Given the description of an element on the screen output the (x, y) to click on. 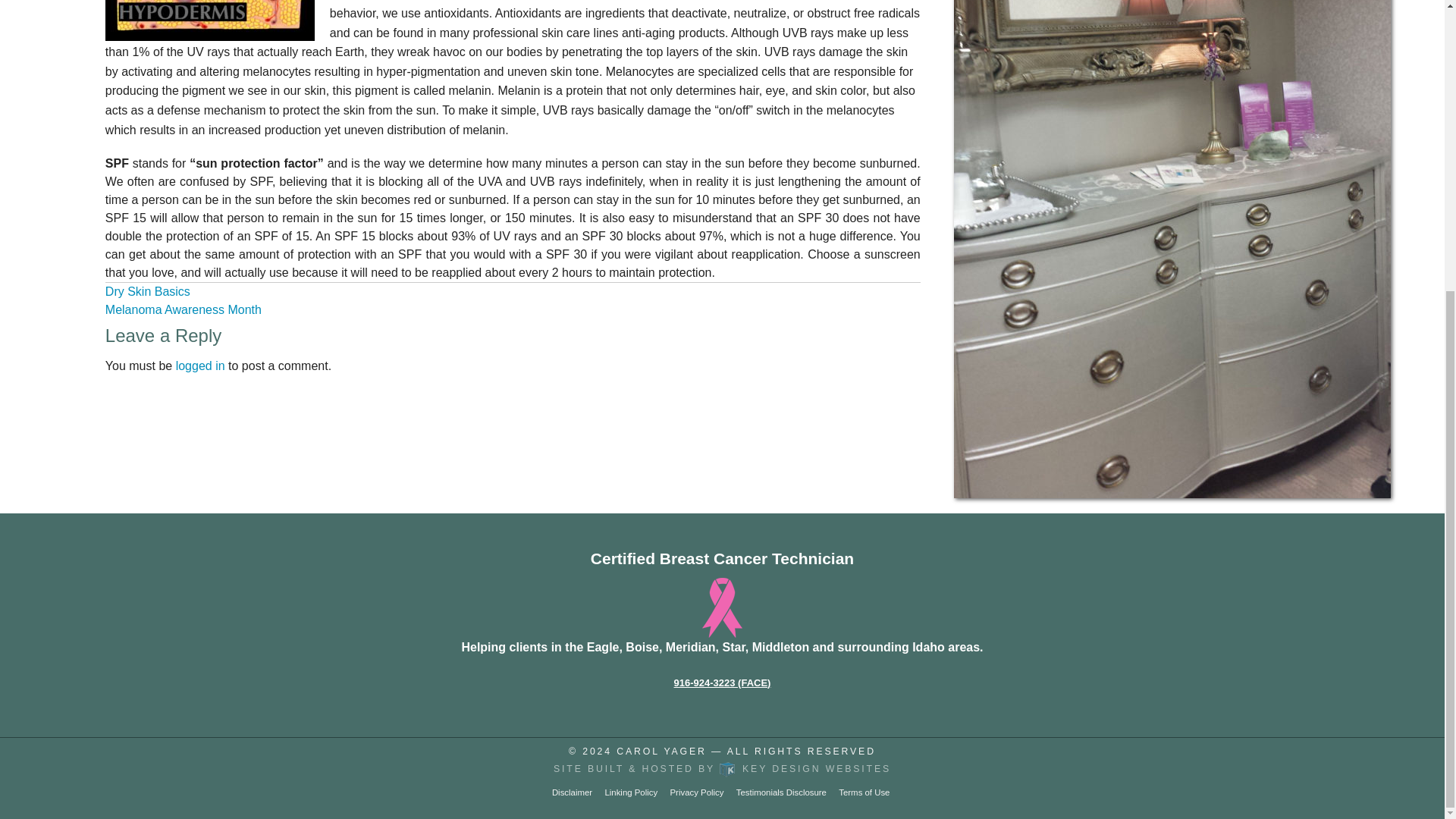
logged in (200, 365)
Dry Skin Basics (147, 291)
CAROL YAGER (660, 751)
Site by Key Design Websites (722, 768)
Melanoma Awareness Month (183, 309)
